Given the description of an element on the screen output the (x, y) to click on. 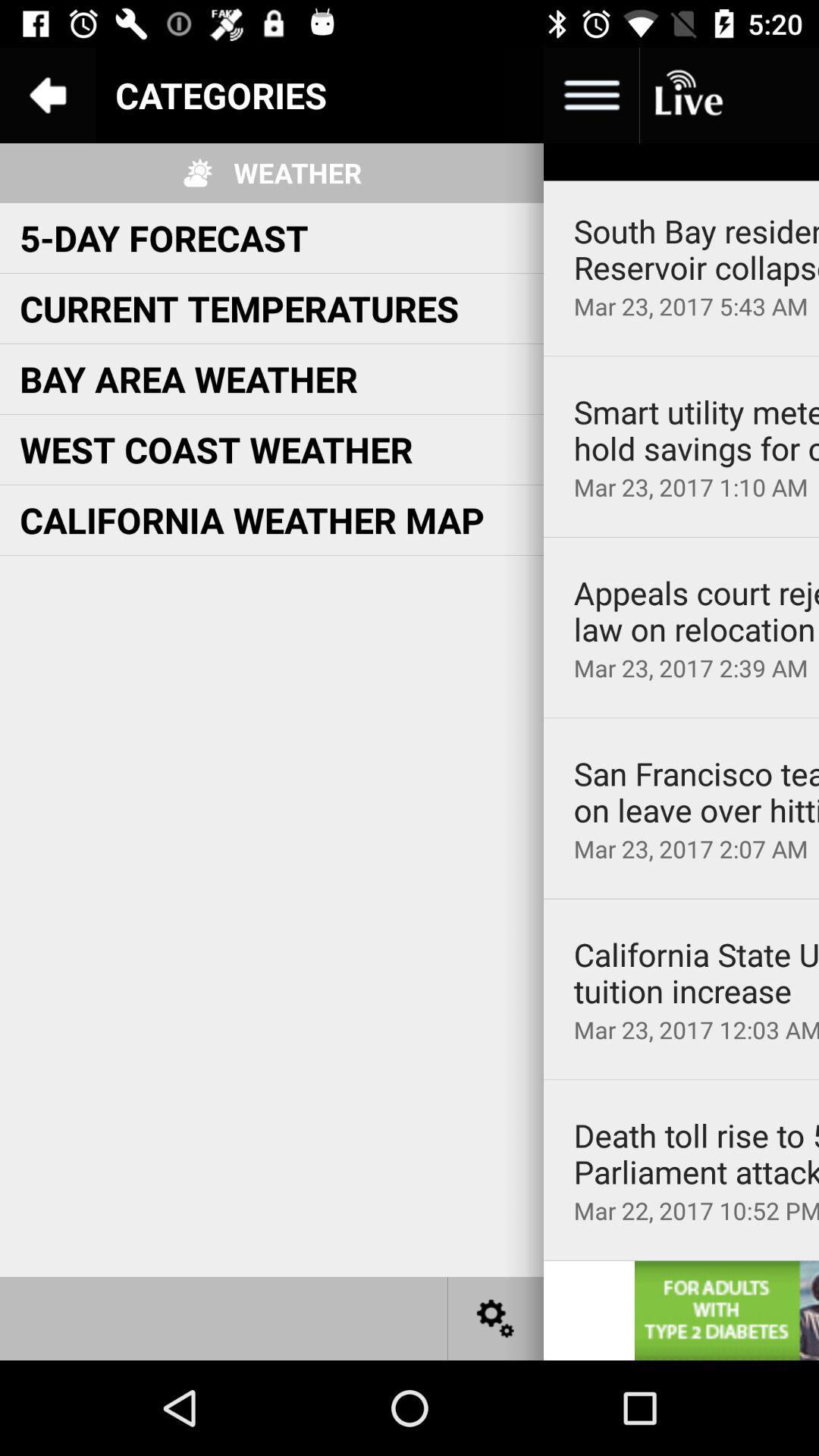
advertisement button (726, 1310)
